Given the description of an element on the screen output the (x, y) to click on. 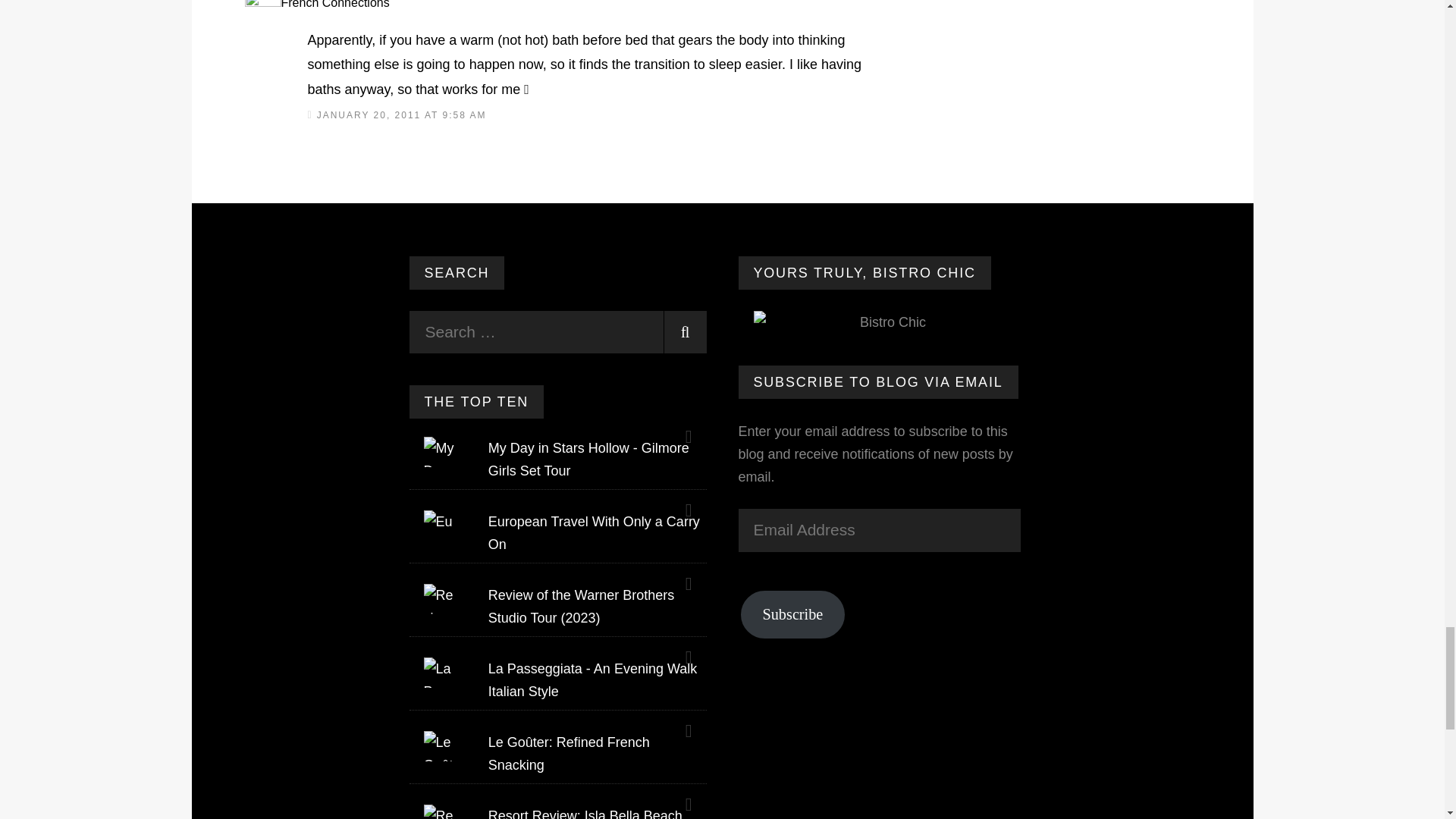
My Day in Stars Hollow - Gilmore Girls Set Tour (587, 459)
European Travel With Only a Carry On (593, 533)
